Given the description of an element on the screen output the (x, y) to click on. 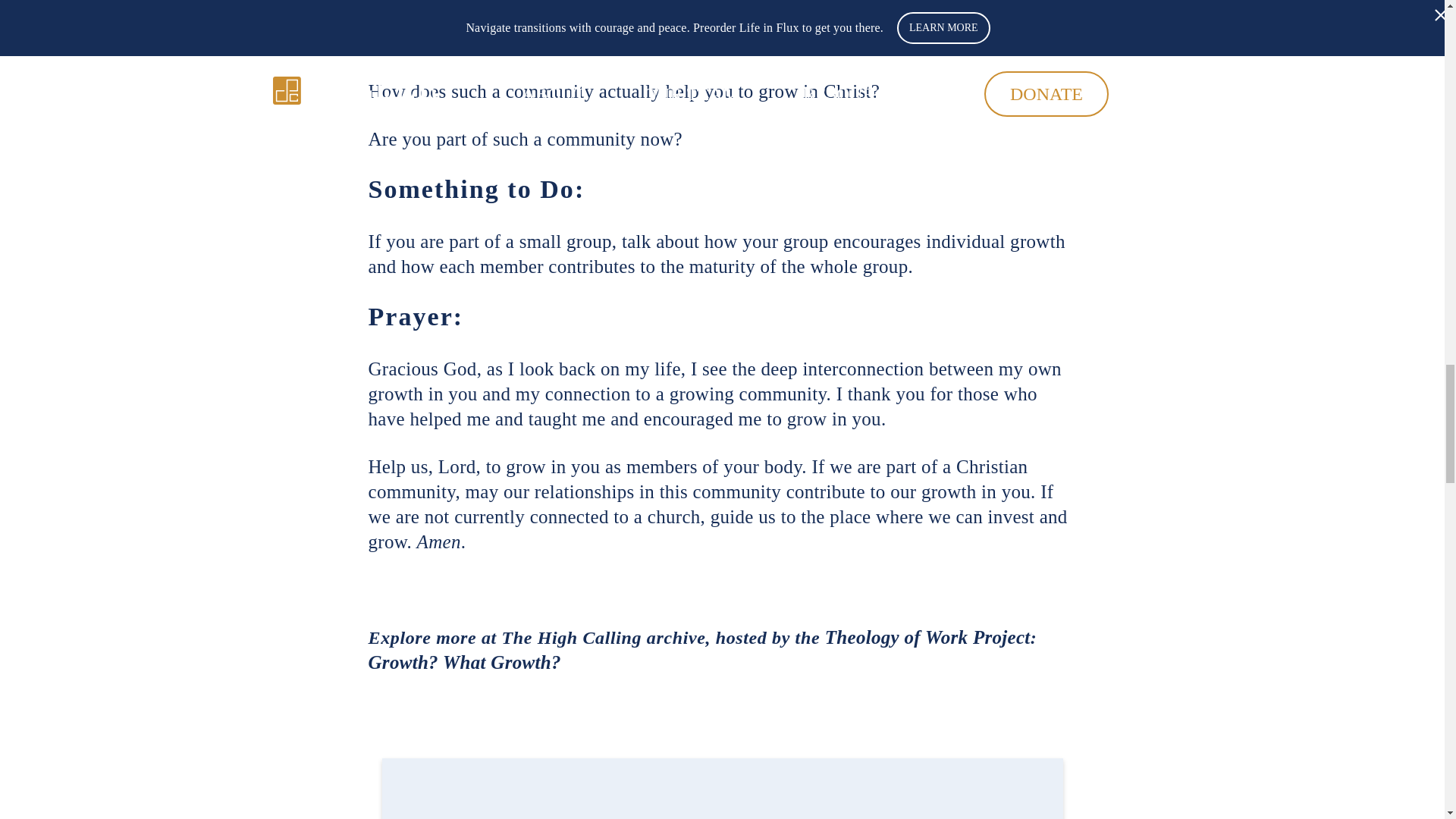
Theology of Work Project (927, 637)
Growth? What Growth? (464, 661)
